Given the description of an element on the screen output the (x, y) to click on. 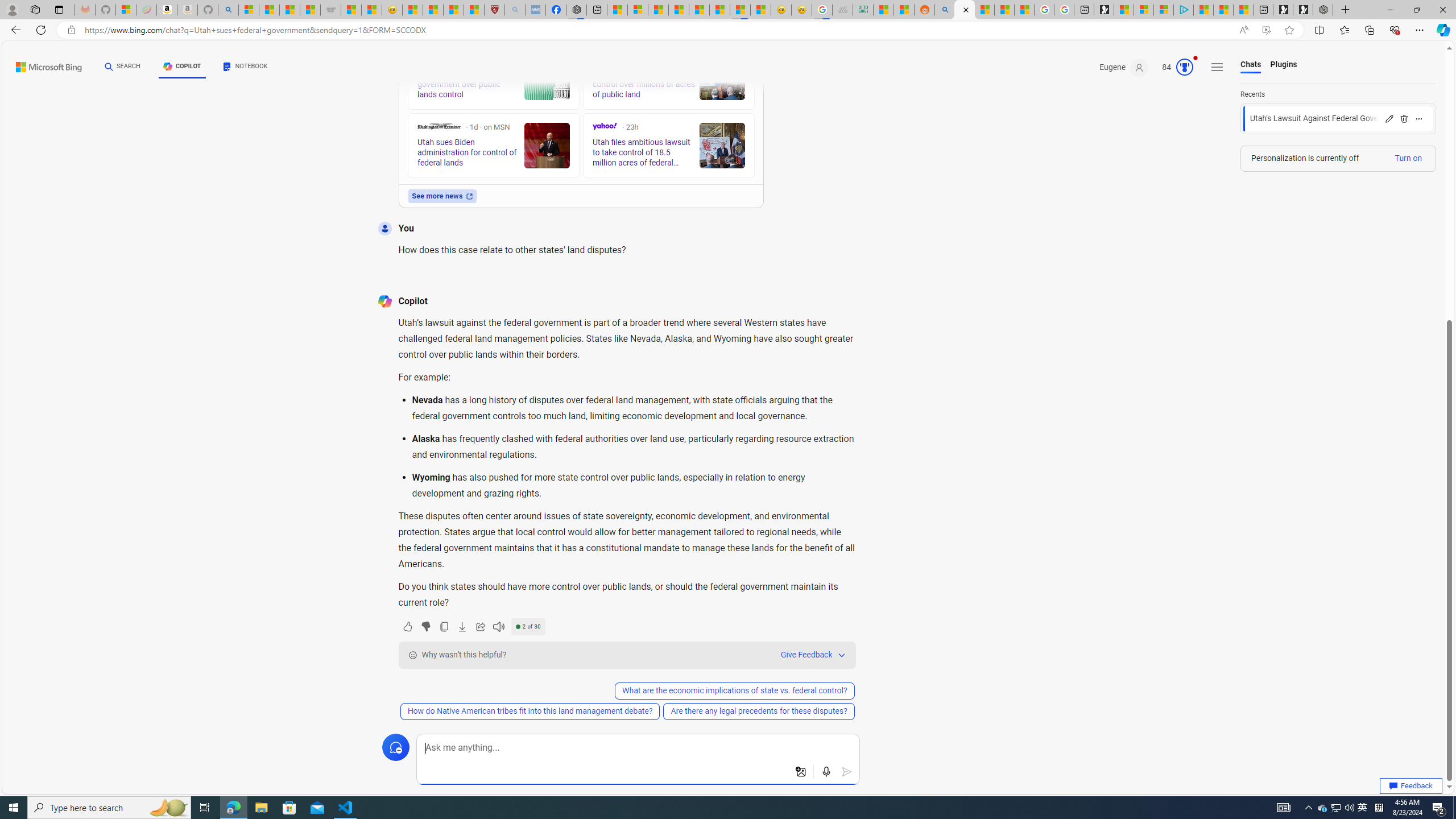
Ask me anything... (637, 748)
Yahoo (604, 125)
Axios Salt Lake City on MSN (421, 58)
Animation (1195, 57)
Boise State Public Radio (596, 58)
Utah sues federal government over public lands control (546, 76)
